Given the description of an element on the screen output the (x, y) to click on. 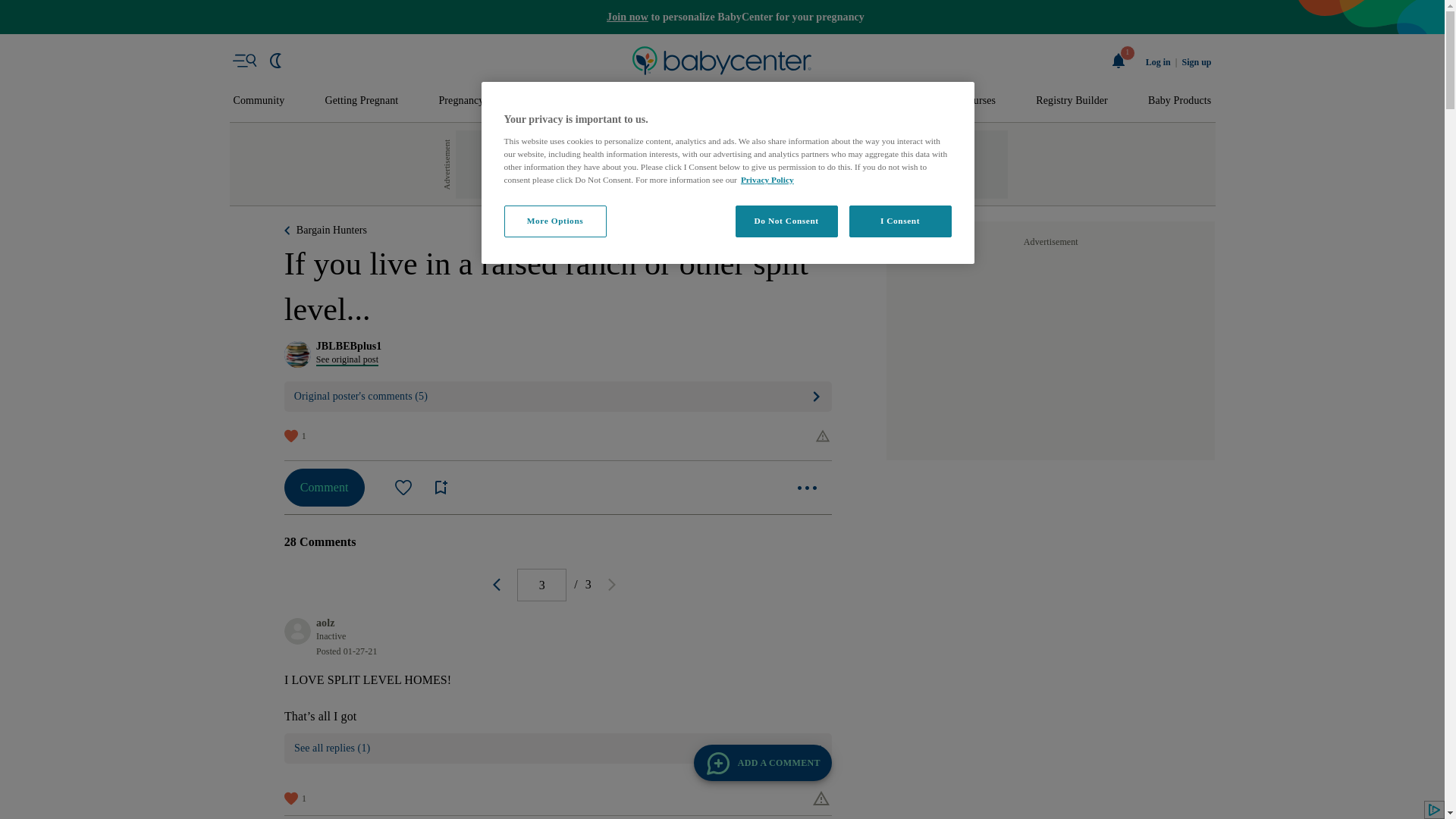
Log in (1157, 61)
Go to page number (541, 584)
3 (541, 584)
Sign up (1195, 61)
Health (835, 101)
Community (258, 101)
Family (904, 101)
Baby Names (551, 101)
1 (1118, 60)
Registry Builder (1071, 101)
Getting Pregnant (360, 101)
Child (768, 101)
Baby Products (1179, 101)
Toddler (699, 101)
Baby (631, 101)
